Given the description of an element on the screen output the (x, y) to click on. 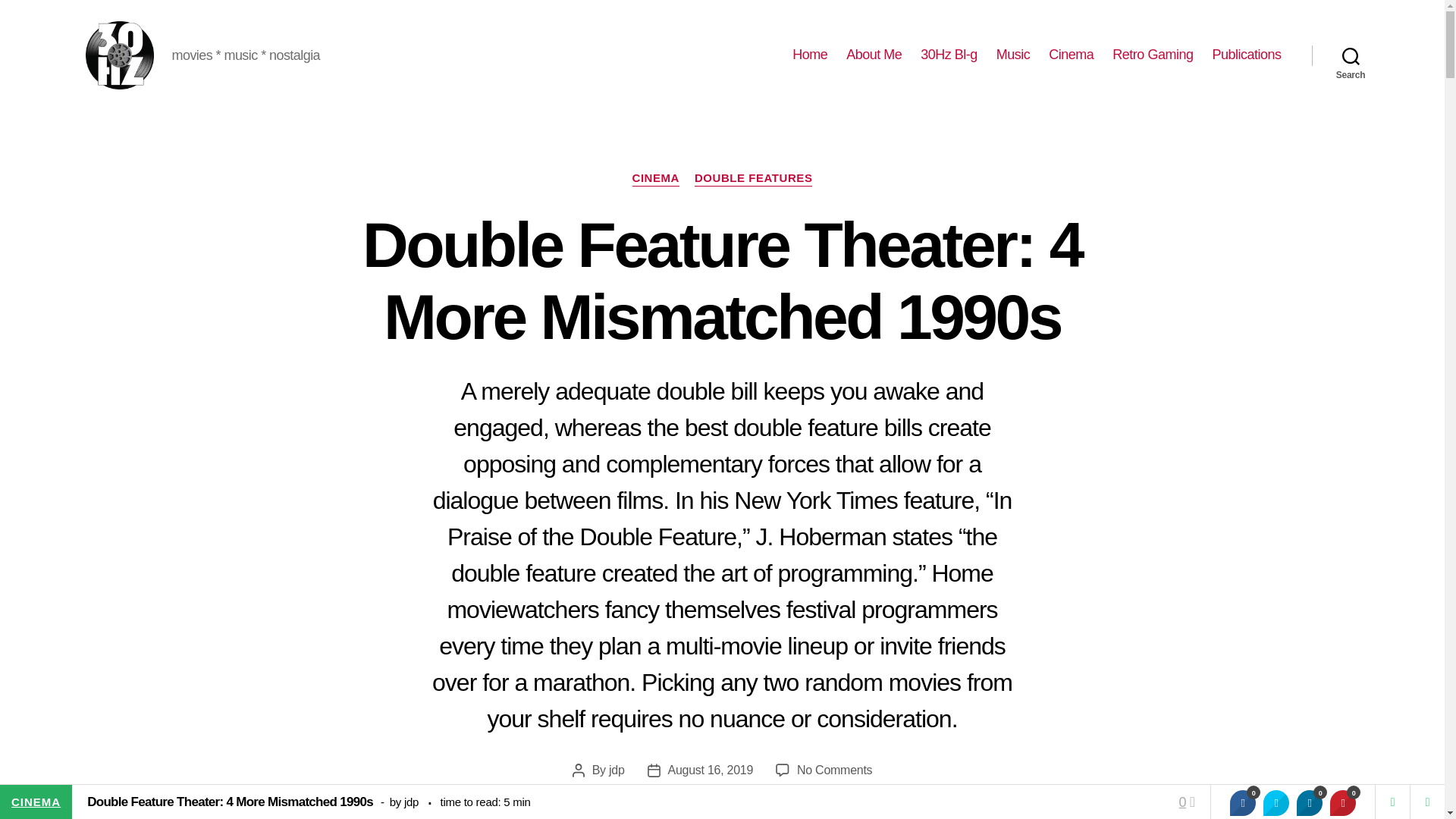
Cinema (1070, 54)
30Hz Bl-g (948, 54)
jdp (616, 769)
August 16, 2019 (711, 769)
Share on Pinterest (1342, 802)
Share on Facebook (1242, 802)
CINEMA (655, 178)
Publications (1246, 54)
About Me (873, 54)
Home (809, 54)
DOUBLE FEATURES (753, 178)
Share on Linkedin (1309, 802)
Retro Gaming (1152, 54)
Share on Twitter (1275, 802)
